Given the description of an element on the screen output the (x, y) to click on. 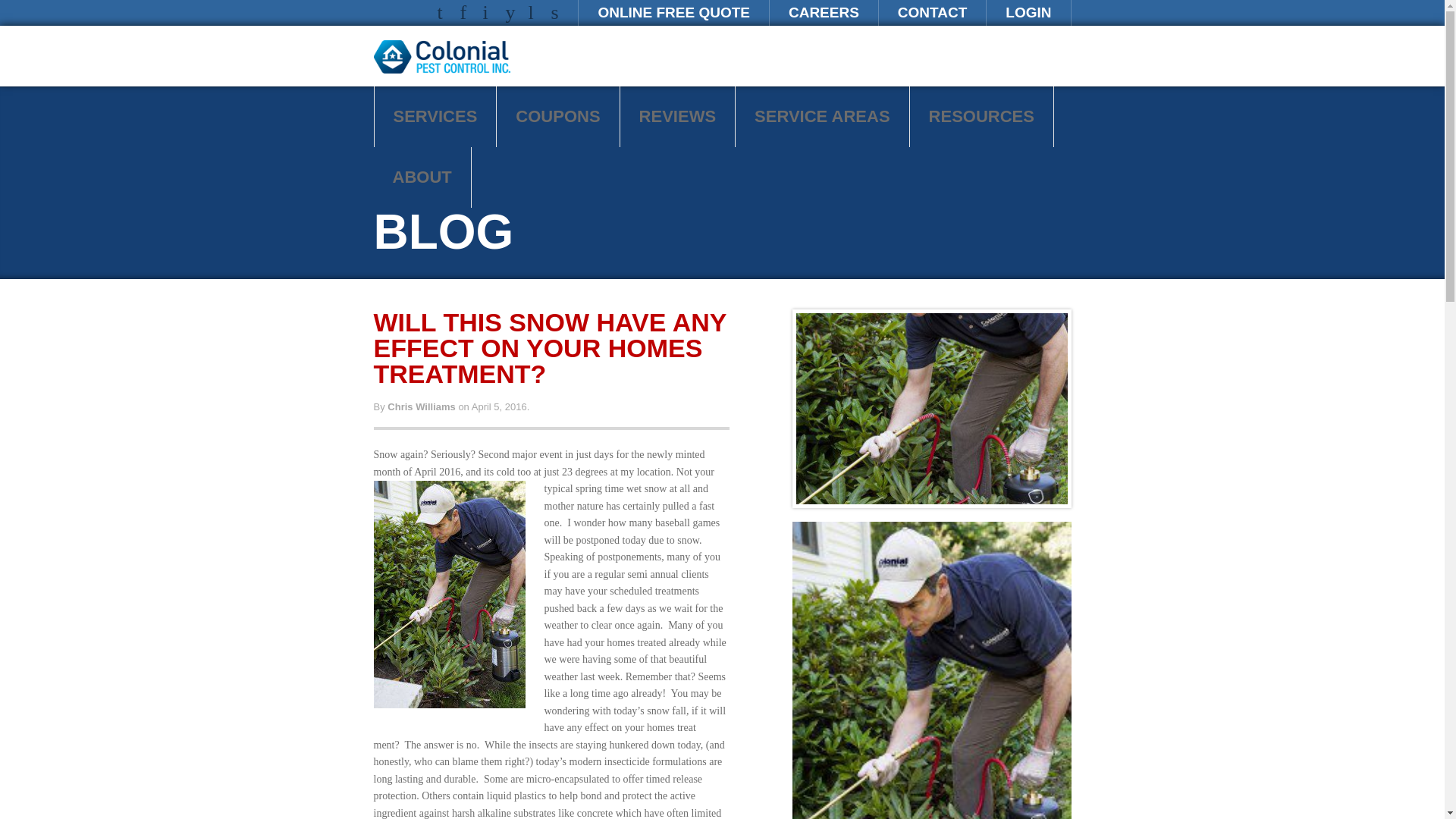
CAREERS (823, 12)
SERVICE AREAS (821, 116)
ONLINE FREE QUOTE (673, 12)
CONTACT (932, 12)
SERVICES (435, 116)
REVIEWS (677, 116)
RESOURCES (981, 116)
COUPONS (557, 116)
LOGIN (1028, 12)
